Given the description of an element on the screen output the (x, y) to click on. 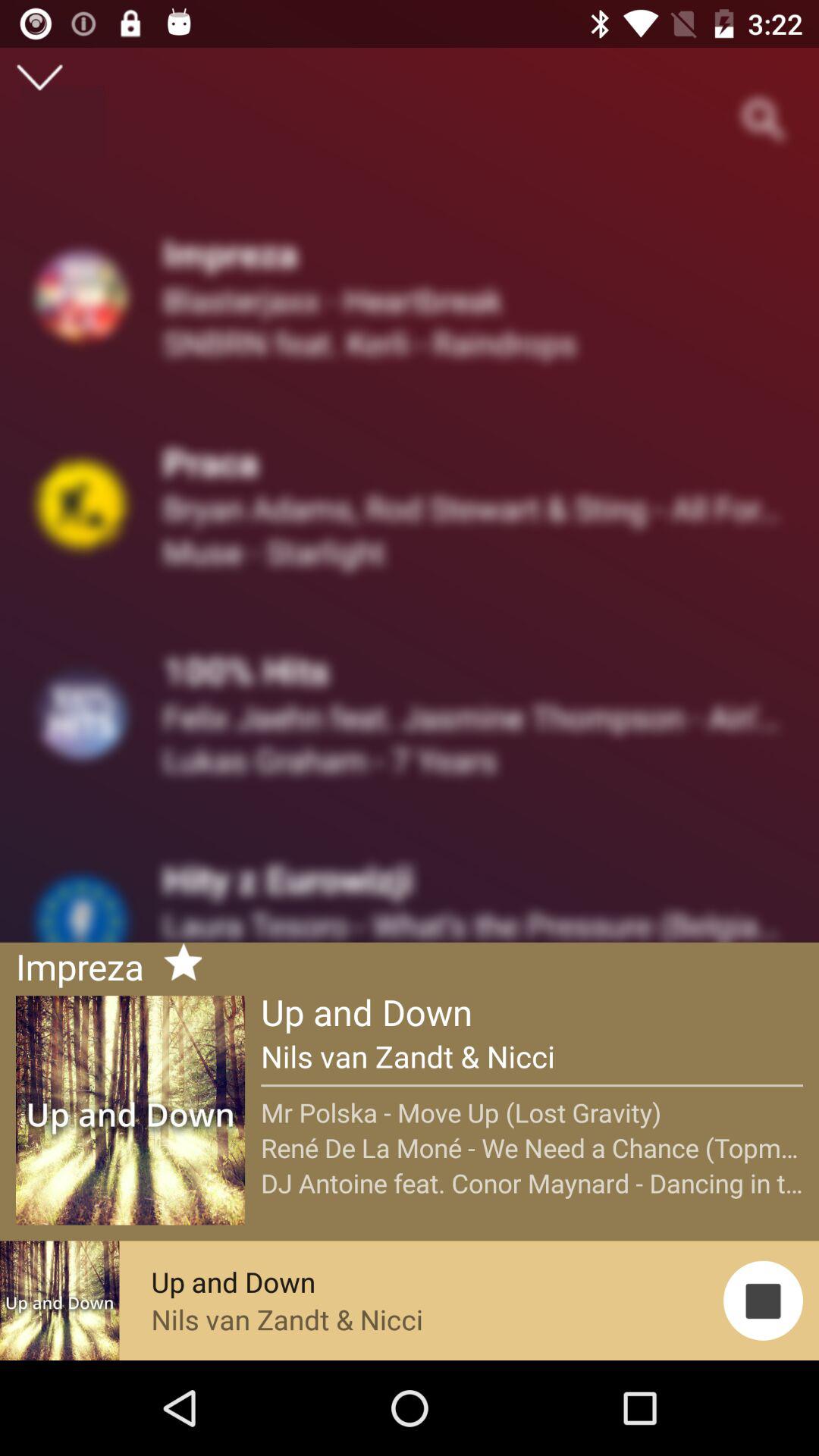
open icon next to impreza icon (176, 964)
